Given the description of an element on the screen output the (x, y) to click on. 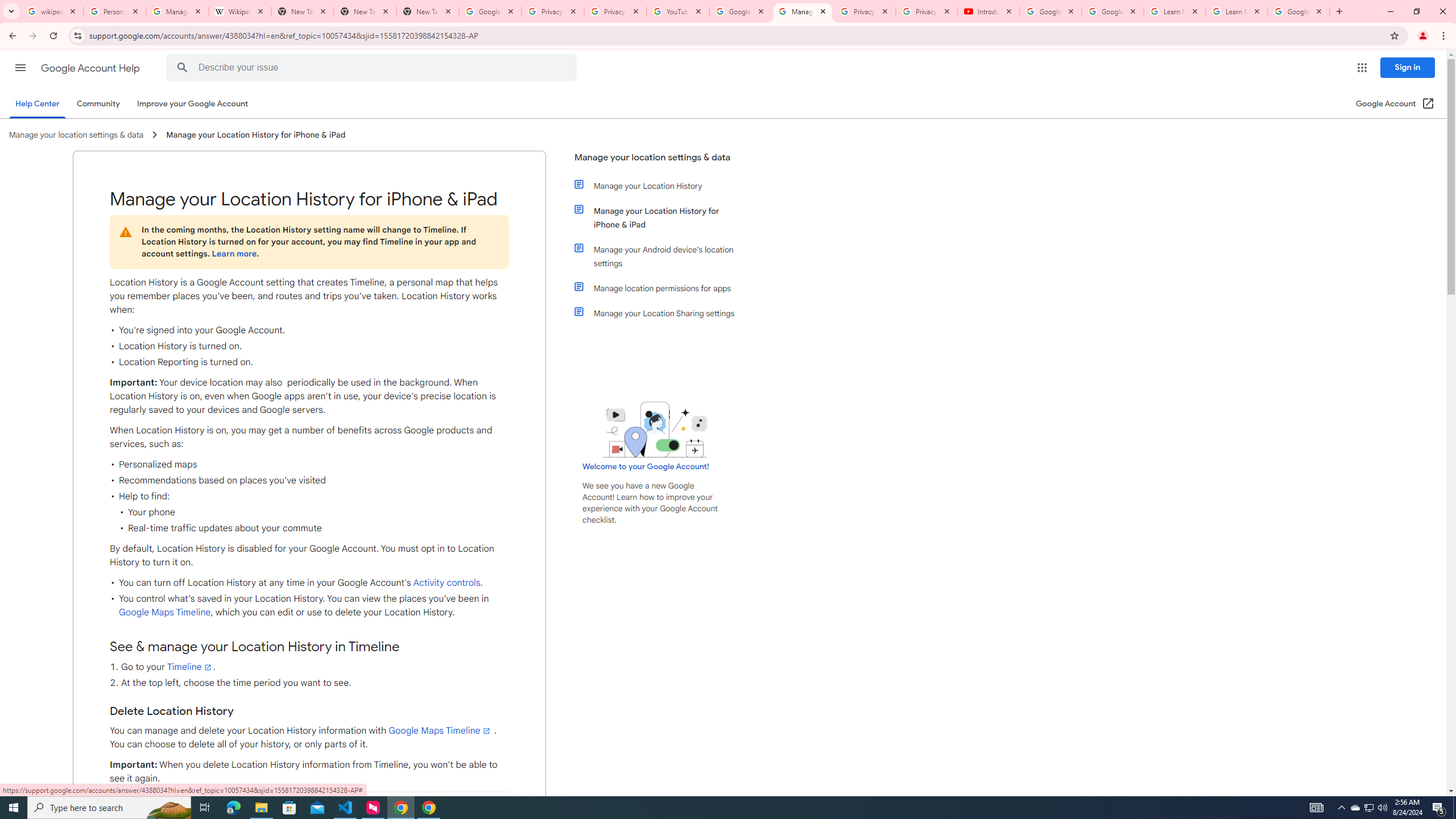
Wikipedia:Edit requests - Wikipedia (239, 11)
Google Drive: Sign-in (490, 11)
Learn more (233, 253)
Main menu (20, 67)
Introduction | Google Privacy Policy - YouTube (988, 11)
Google Account (Open in a new window) (1395, 103)
Timeline (188, 667)
Improve your Google Account (192, 103)
Manage your Location History for iPhone & iPad (661, 217)
